Given the description of an element on the screen output the (x, y) to click on. 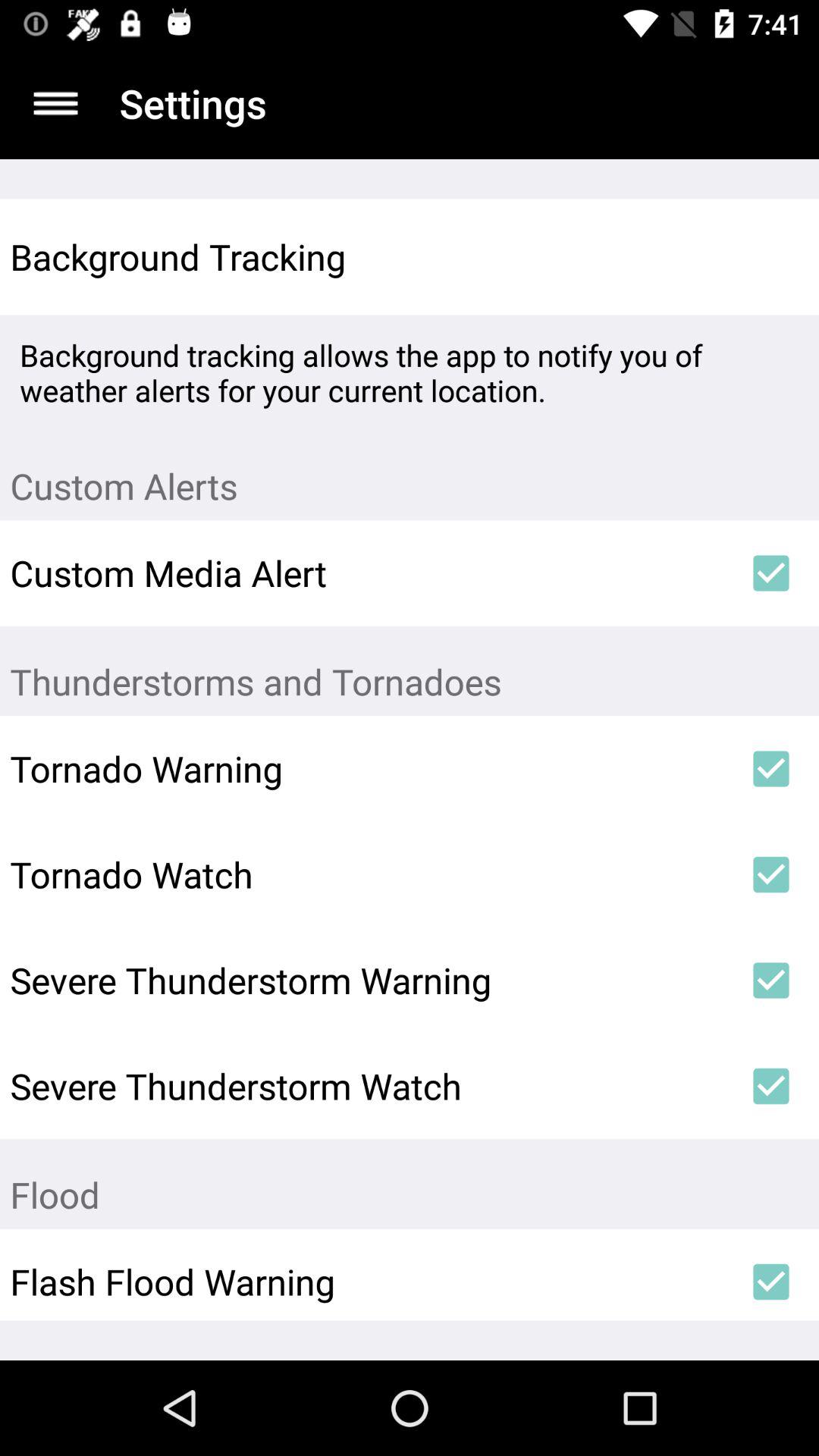
launch item above the thunderstorms and tornadoes icon (771, 573)
